Given the description of an element on the screen output the (x, y) to click on. 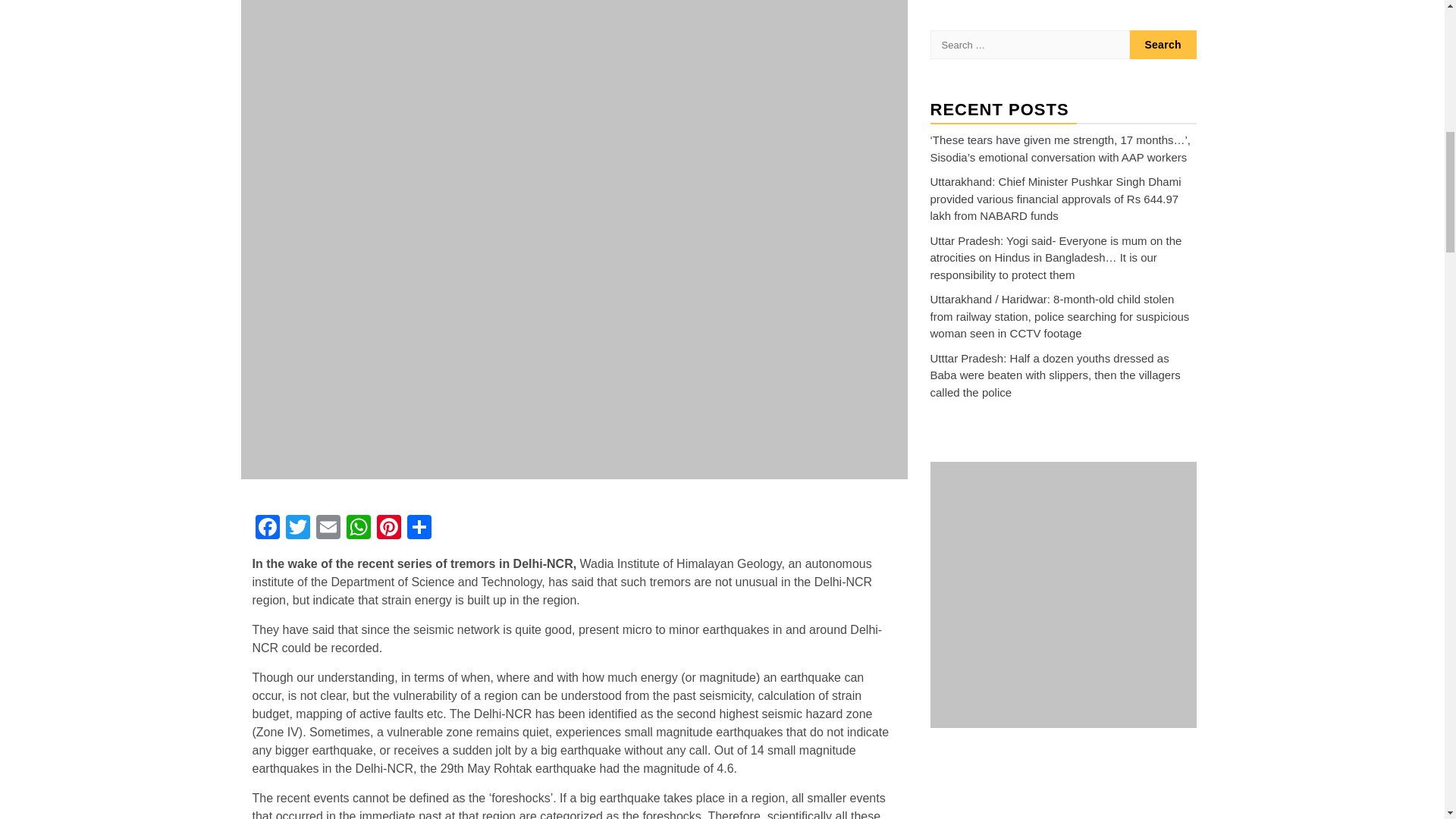
Email (327, 528)
Pinterest (387, 528)
Facebook (266, 528)
WhatsApp (357, 528)
Twitter (297, 528)
